Given the description of an element on the screen output the (x, y) to click on. 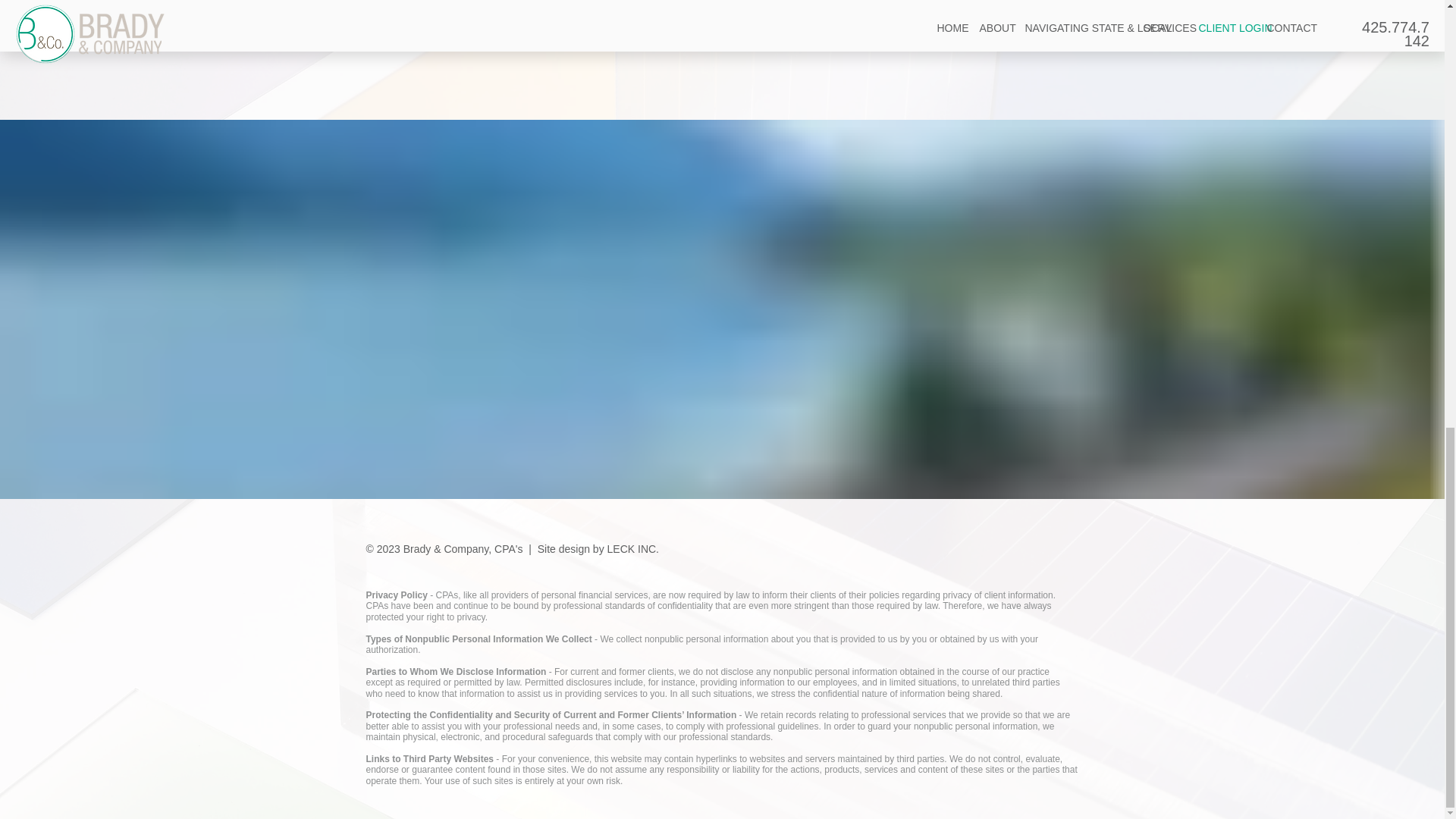
LECK INC. (633, 548)
